Given the description of an element on the screen output the (x, y) to click on. 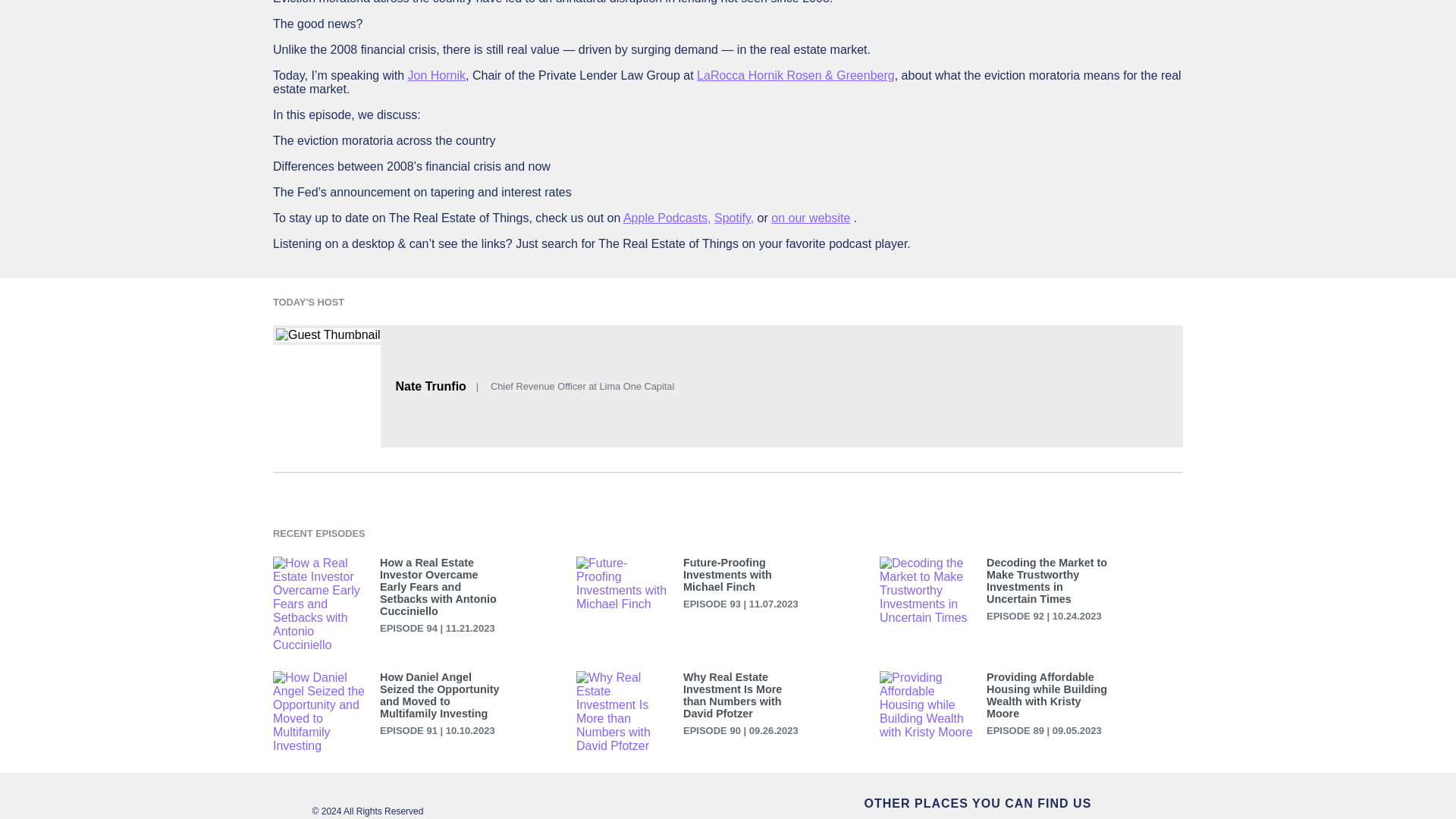
Jon Hornik (436, 74)
Spotify, (734, 217)
Apple Podcasts, (667, 217)
on our website (810, 217)
